Given the description of an element on the screen output the (x, y) to click on. 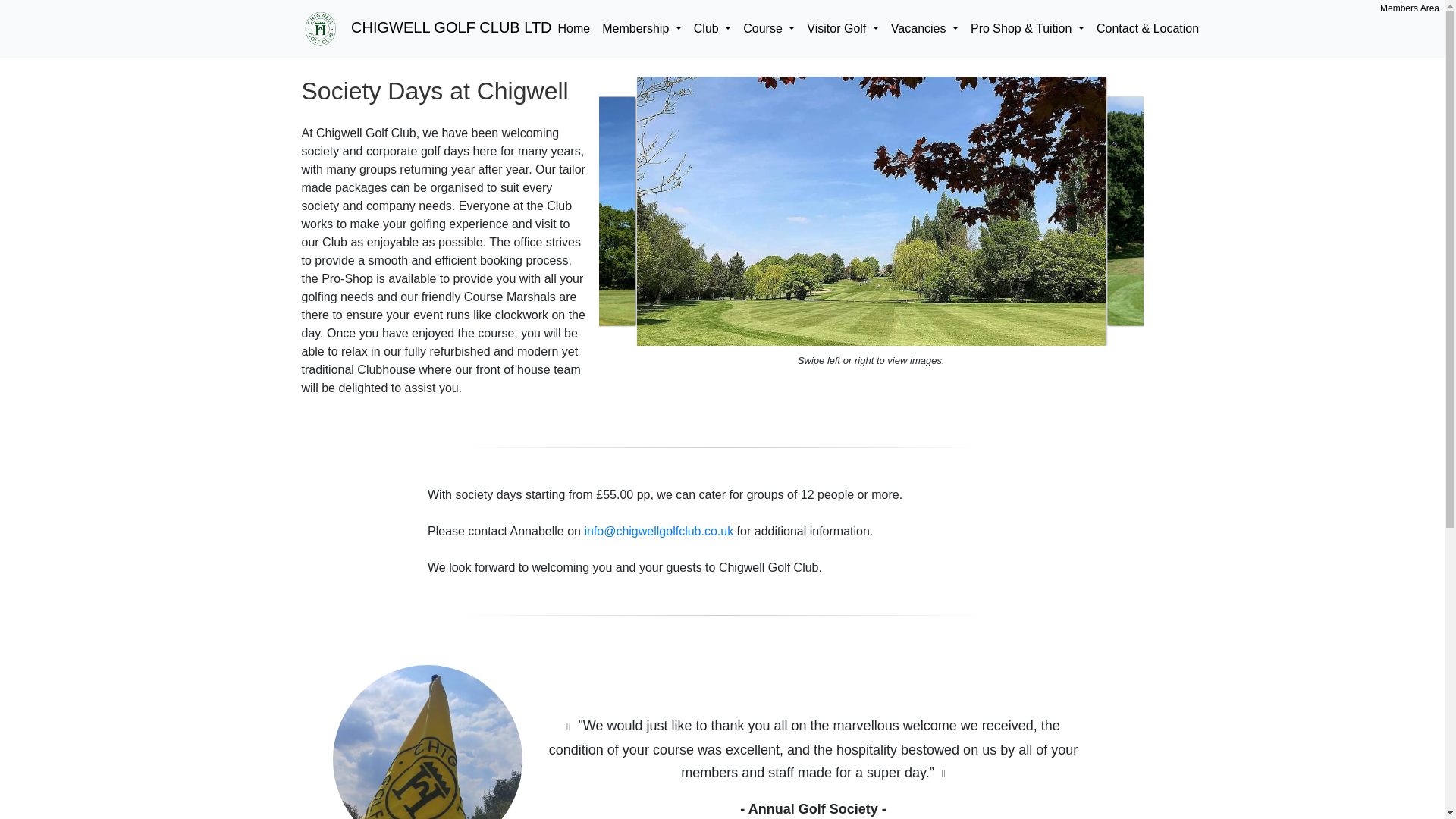
CHIGWELL GOLF CLUB LTD (426, 28)
Members Area (1408, 8)
Vacancies (924, 28)
Club (711, 28)
Course (768, 28)
Membership (641, 28)
Visitor Golf (841, 28)
Home (573, 28)
